Given the description of an element on the screen output the (x, y) to click on. 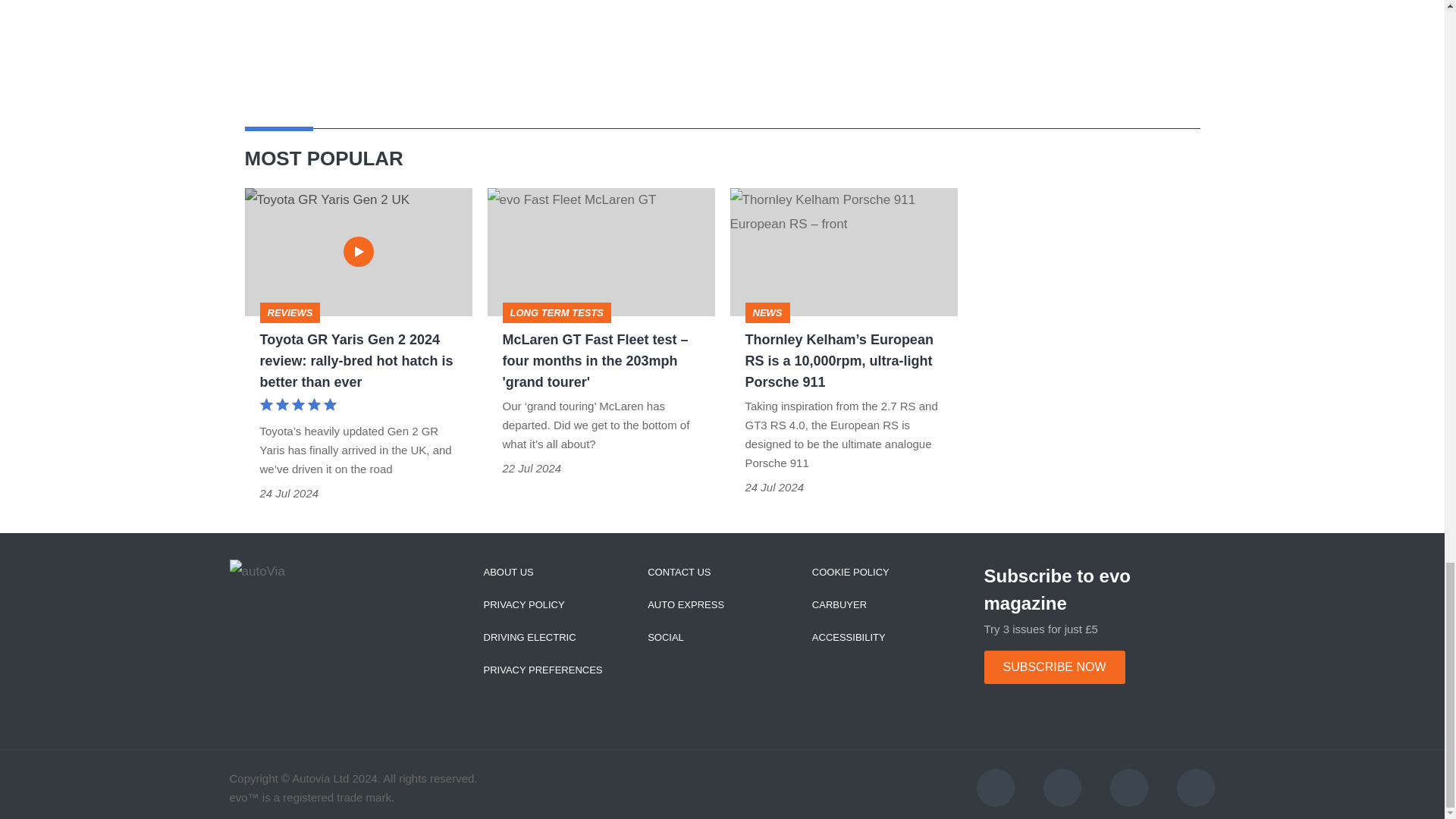
Subscribe now (1054, 666)
5 Stars (297, 406)
